Given the description of an element on the screen output the (x, y) to click on. 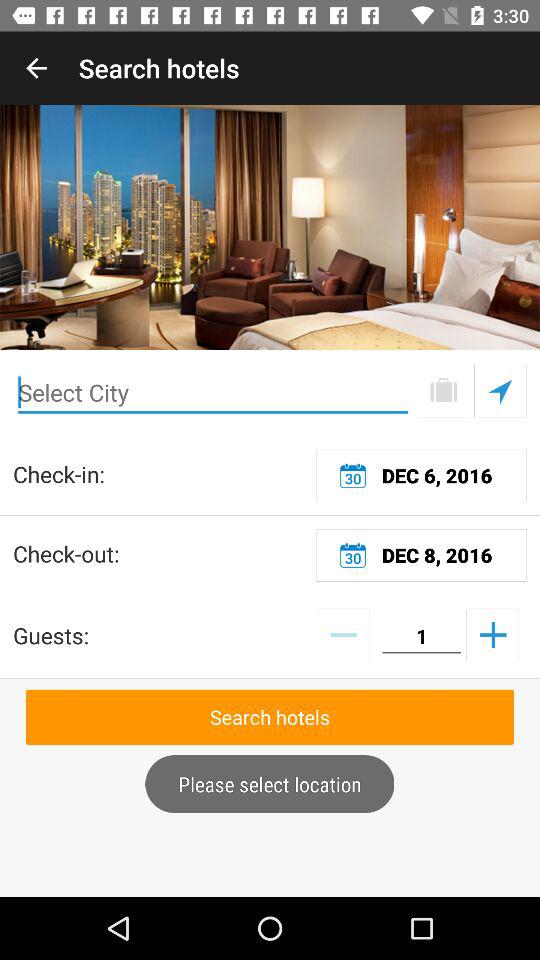
make selection (500, 390)
